Given the description of an element on the screen output the (x, y) to click on. 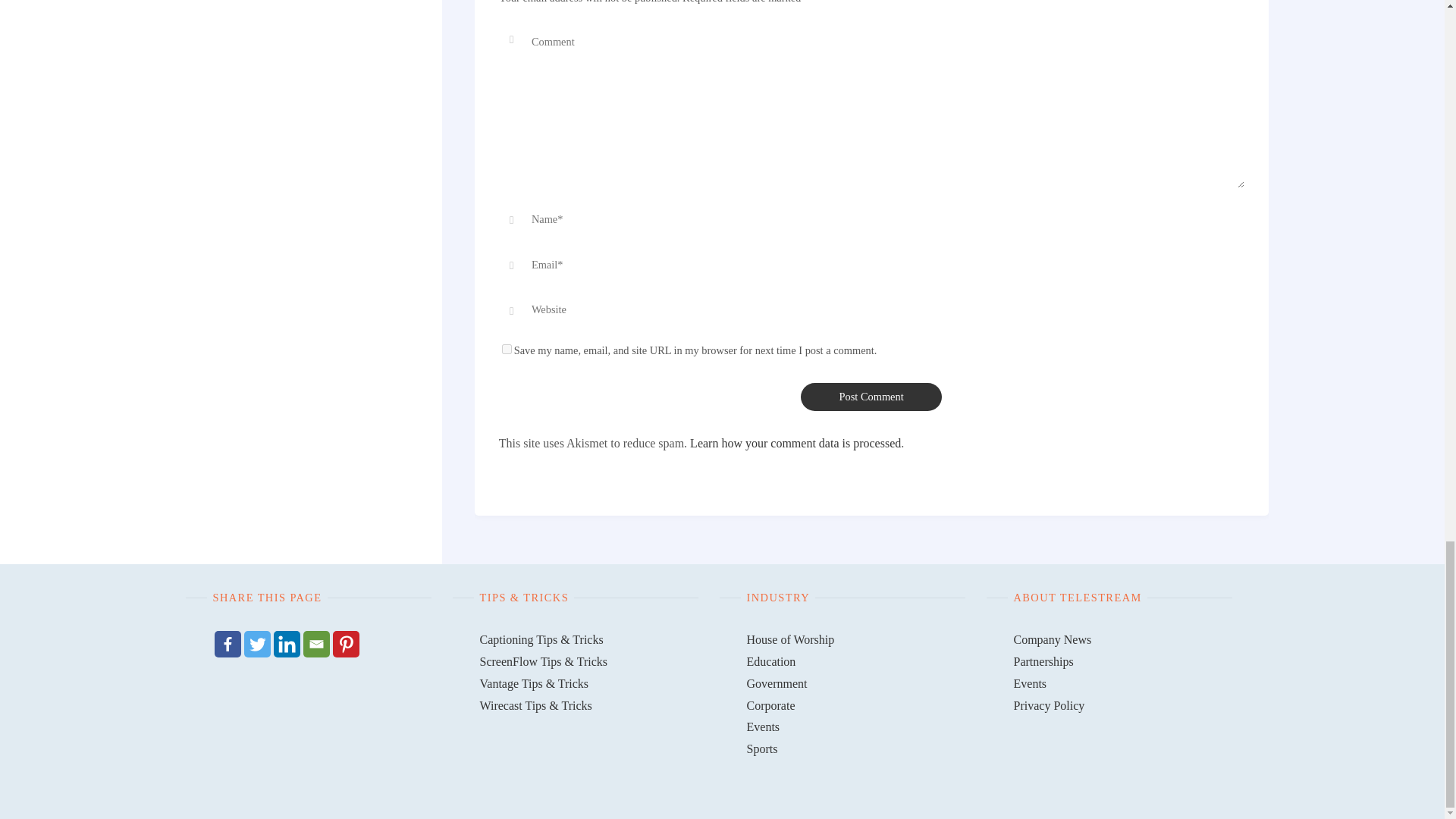
Email (316, 643)
Post Comment (871, 397)
Twitter (257, 643)
Pinterest (344, 643)
Facebook (227, 643)
Linkedin (286, 643)
yes (507, 348)
